Given the description of an element on the screen output the (x, y) to click on. 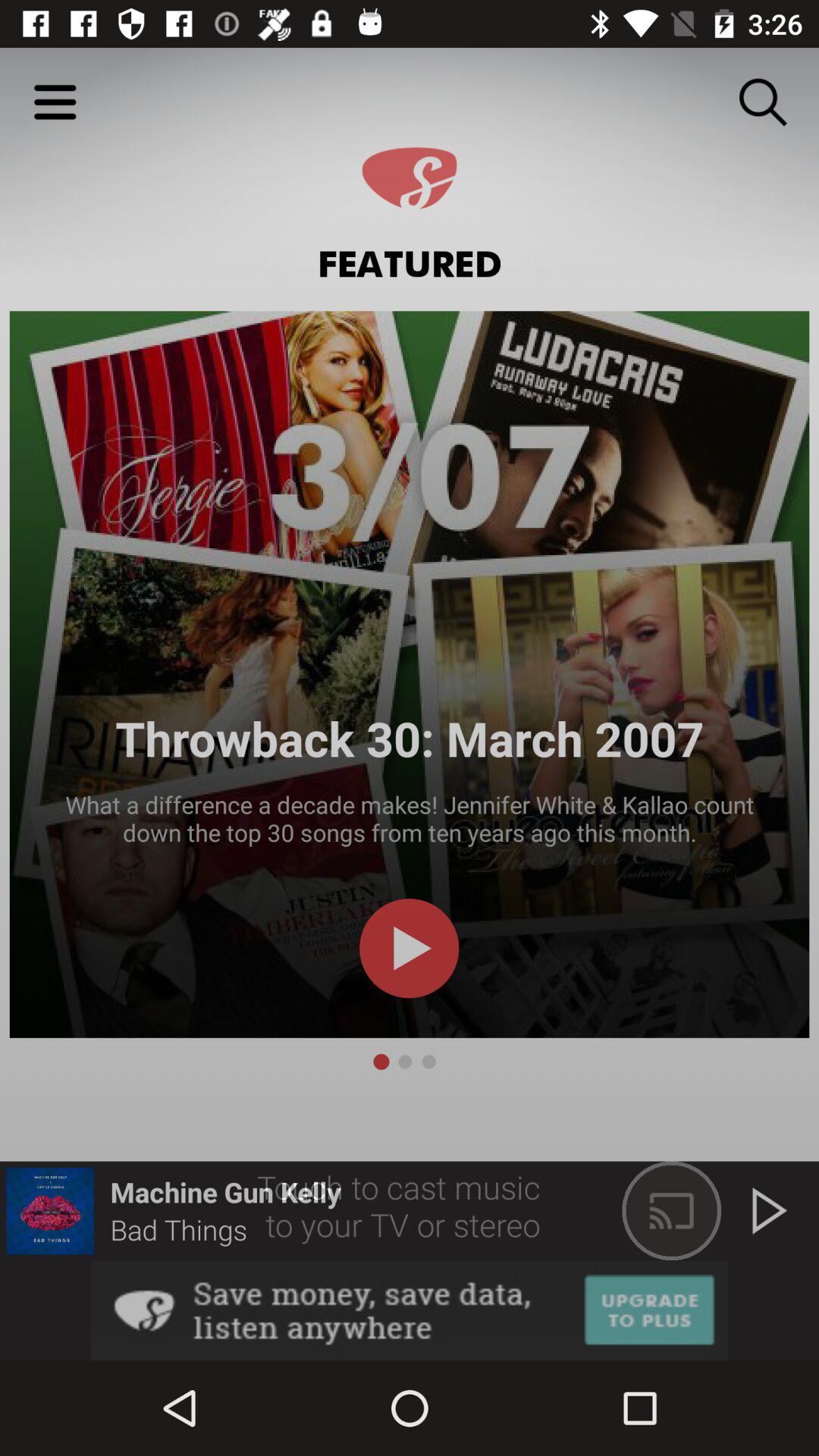
select throwback 30 march 2007 (409, 674)
click on the cast screen icon (671, 1210)
click on image with lips at bottom left (49, 1211)
click on the play icon which is on bottom right (769, 1210)
